Given the description of an element on the screen output the (x, y) to click on. 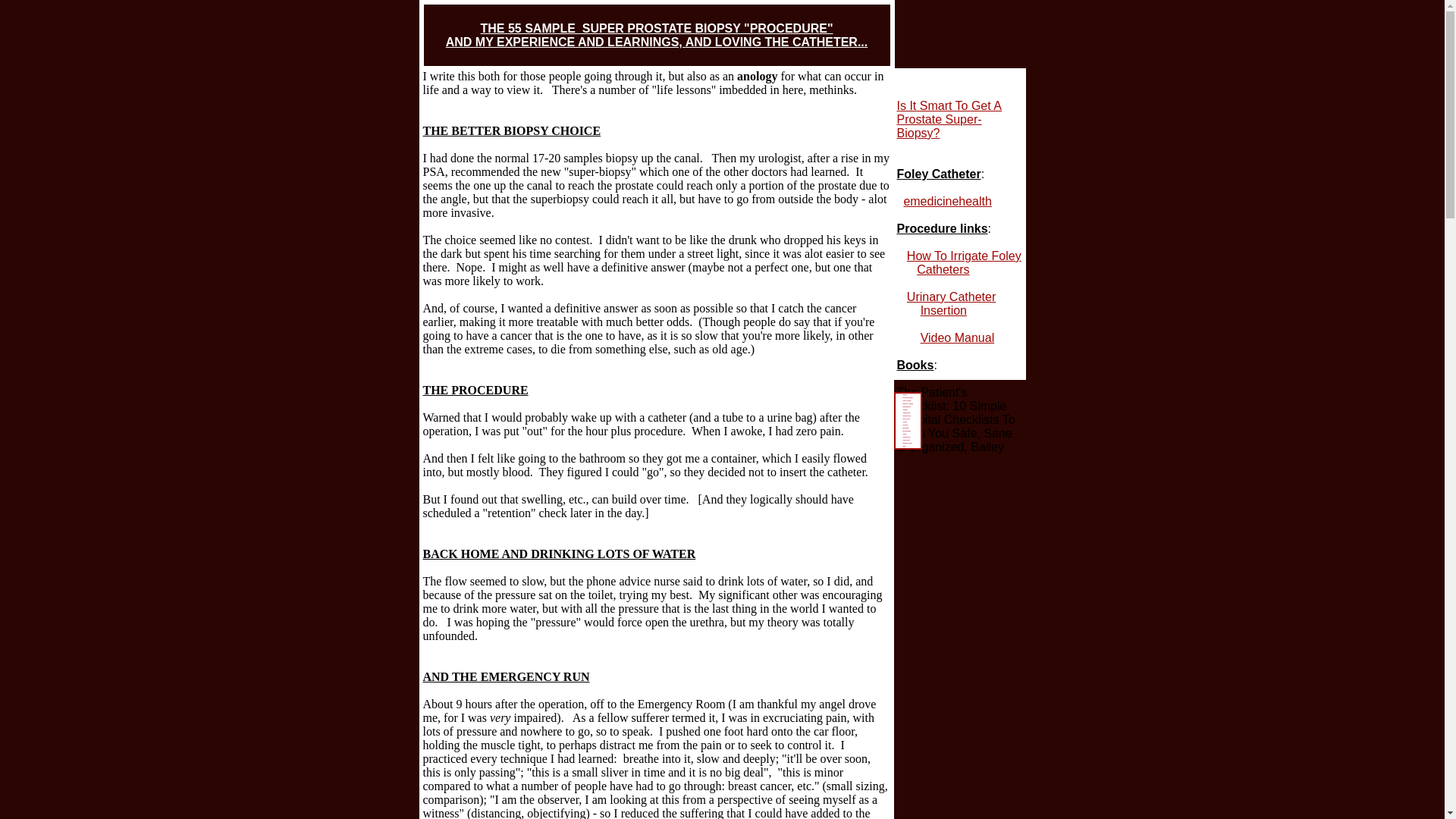
Urinary Catheter (951, 296)
LIFE MANAGEMENT (907, 412)
Video Manual (957, 337)
PSYCHOLOGY (907, 425)
FINANCIAL, MATERIAL (907, 400)
PLANNING (907, 422)
Insertion (943, 309)
RELATIONSHIPS (907, 427)
DETAILED SITE CONTENTS (907, 397)
LEARNING MODULES (907, 406)
